Given the description of an element on the screen output the (x, y) to click on. 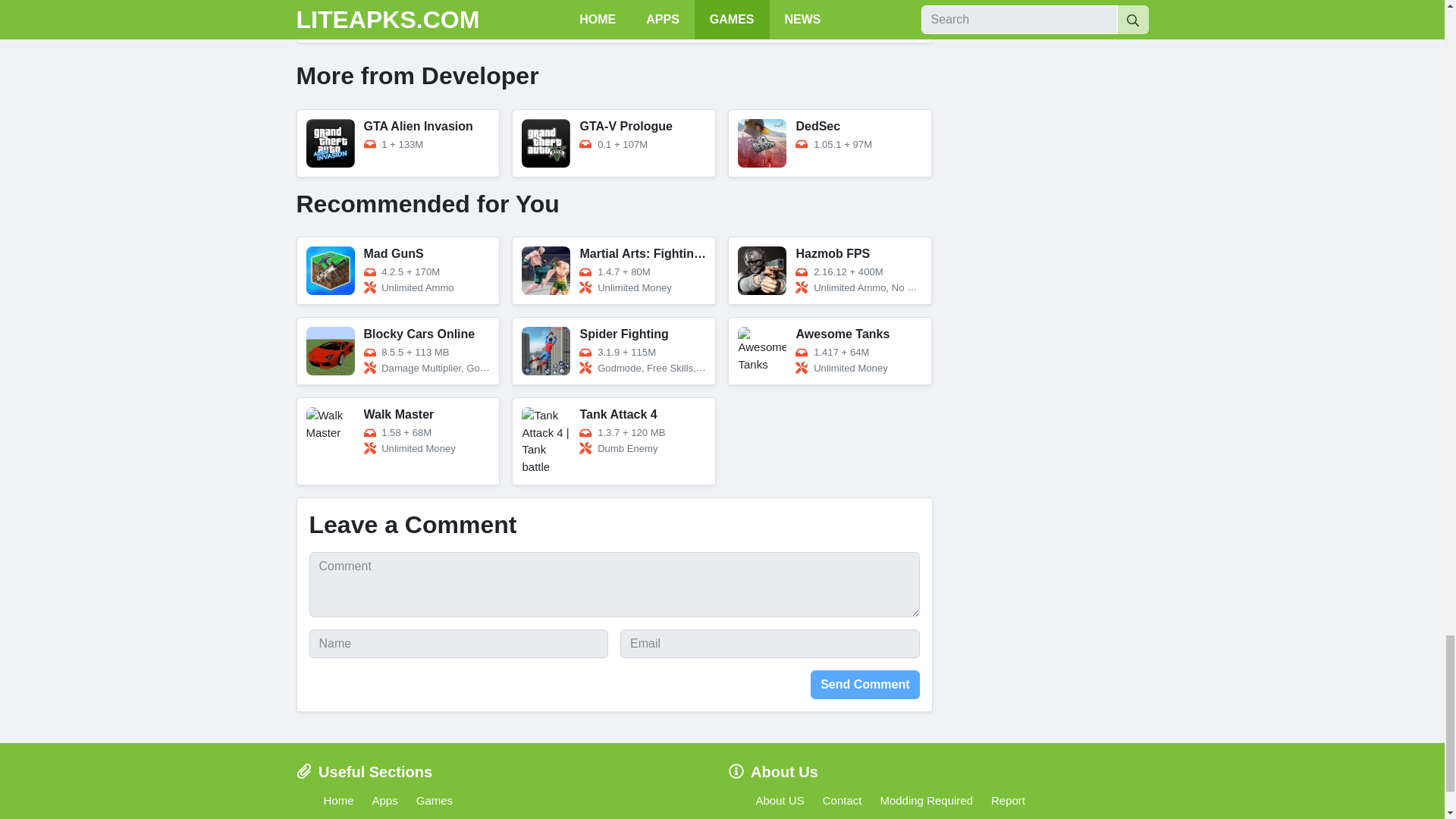
DedSec (829, 142)
Awesome Tanks (829, 350)
Walk Master (397, 441)
Martial Arts: Fighting Games (614, 270)
Tank Attack 4 (614, 441)
Mad GunS (397, 270)
GTA Alien Invasion (397, 142)
Hazmob FPS (829, 270)
Blocky Cars online games (397, 350)
GTA-V Prologue (614, 142)
